Given the description of an element on the screen output the (x, y) to click on. 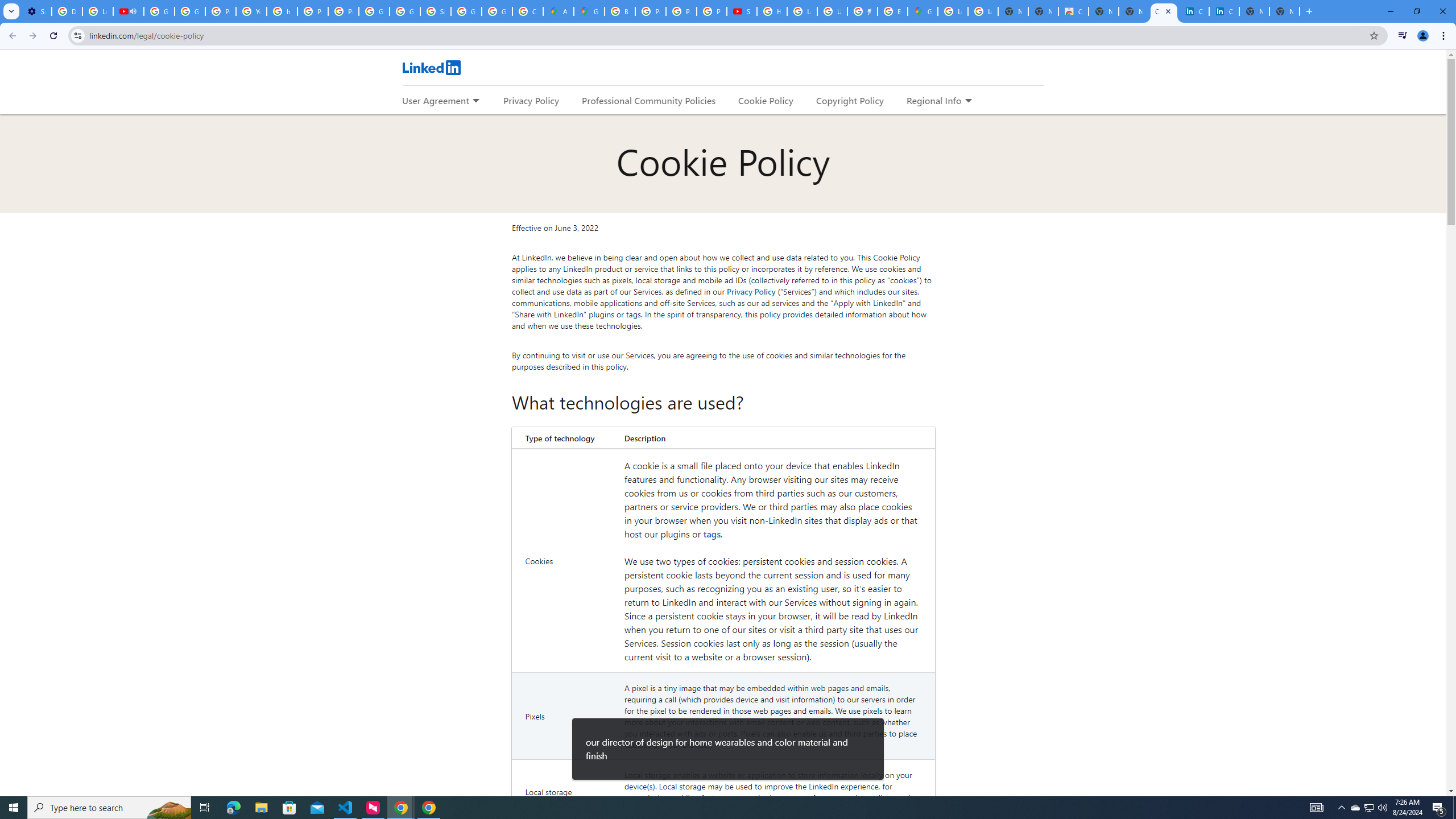
Privacy Help Center - Policies Help (681, 11)
Copyright Policy (849, 100)
